Given the description of an element on the screen output the (x, y) to click on. 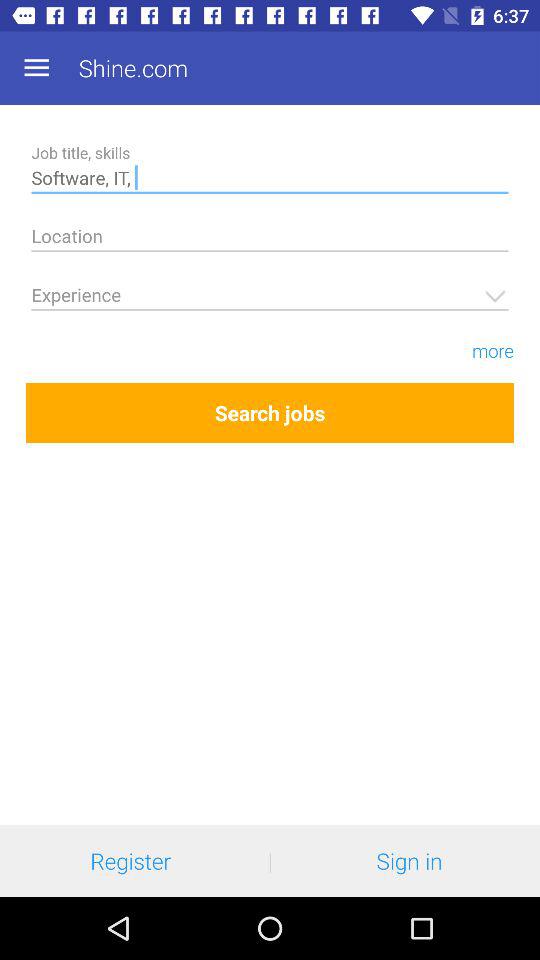
enter information (269, 239)
